Given the description of an element on the screen output the (x, y) to click on. 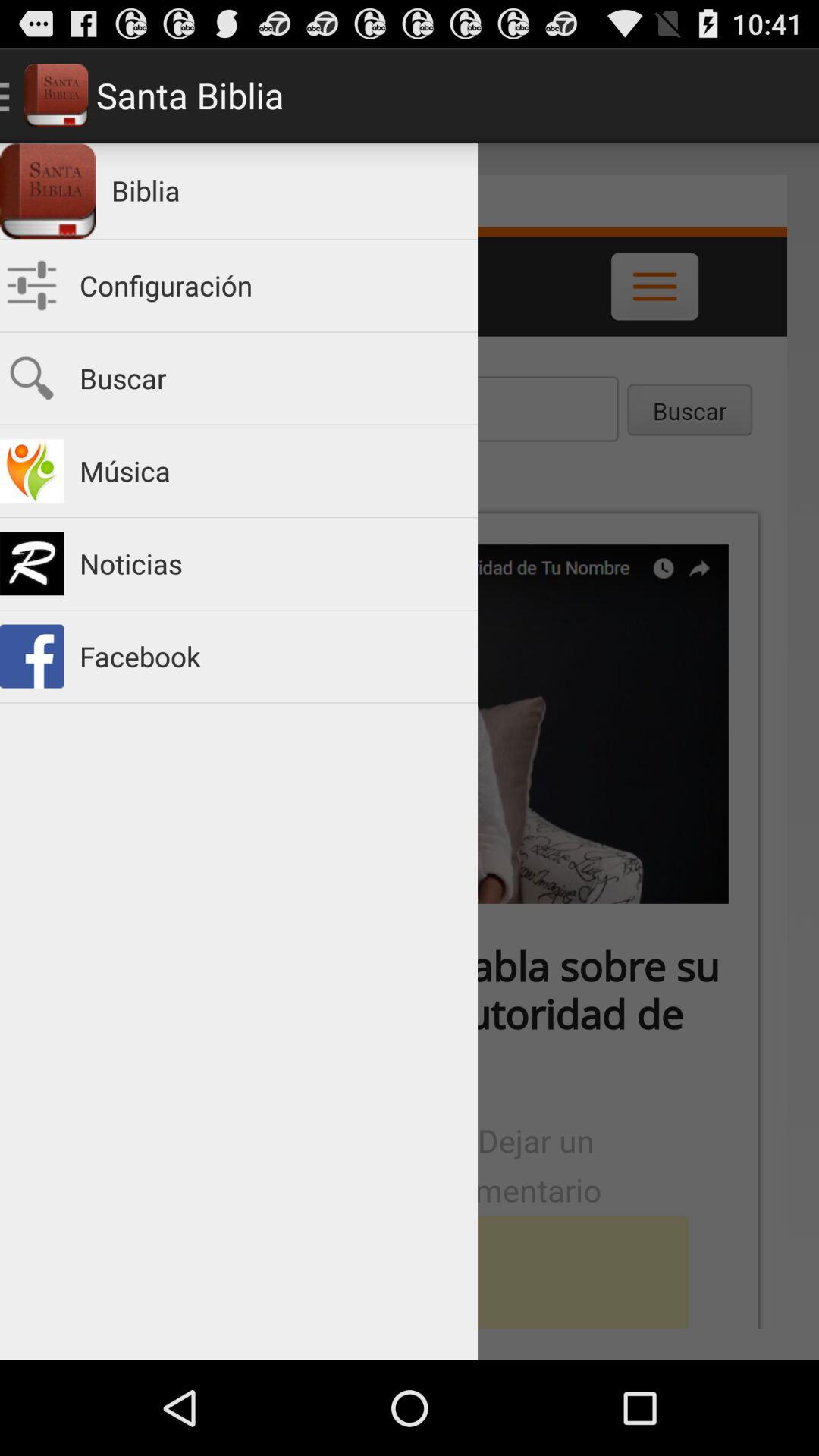
scroll until facebook item (270, 656)
